Given the description of an element on the screen output the (x, y) to click on. 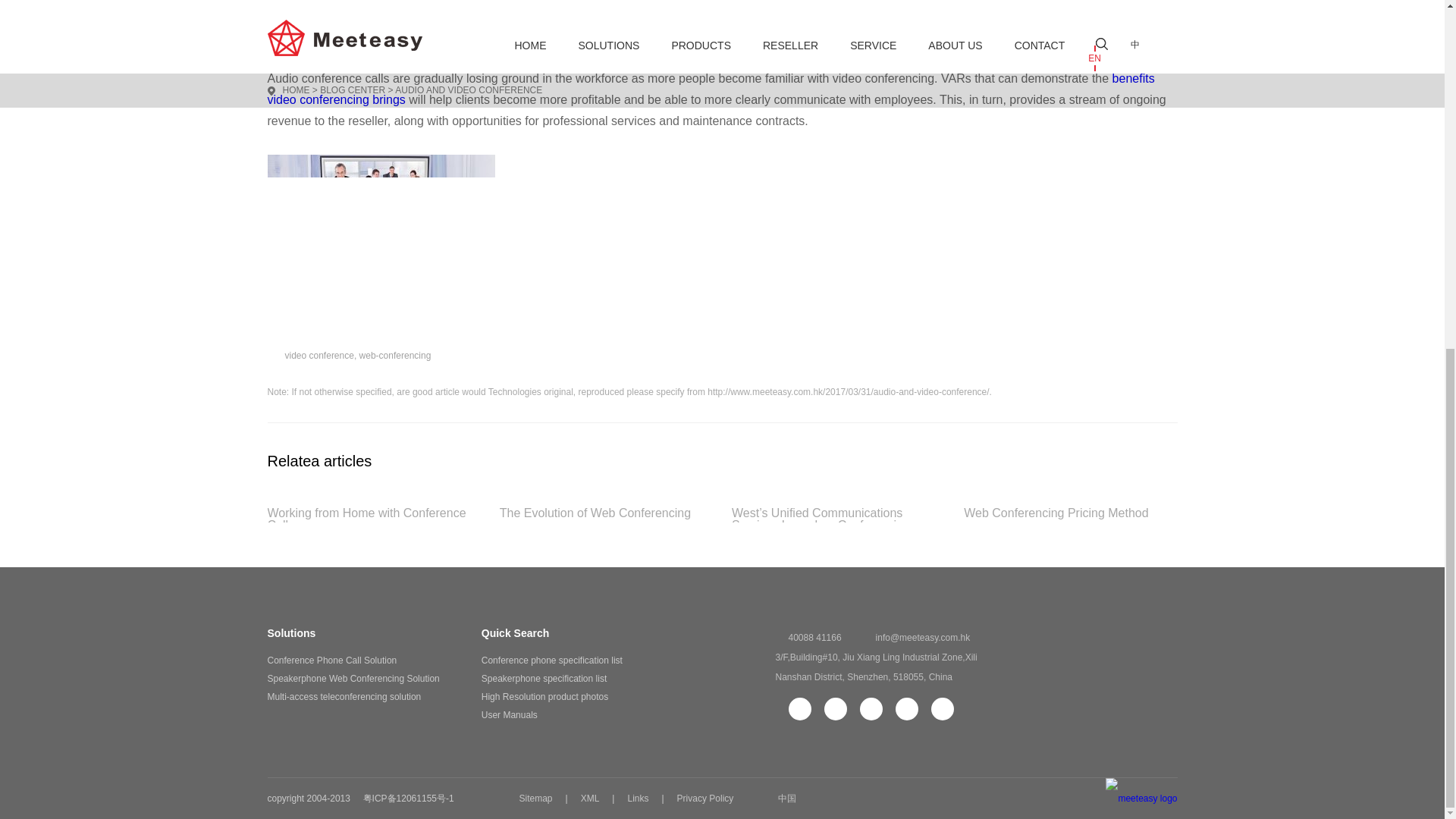
The Evolution of Web Conferencing (606, 514)
Working from Home with Conference Calls (373, 514)
Web Conferencing Pricing Method (1069, 514)
web-conferencing (394, 355)
benefits video conferencing brings  (710, 89)
video conference (319, 355)
